Given the description of an element on the screen output the (x, y) to click on. 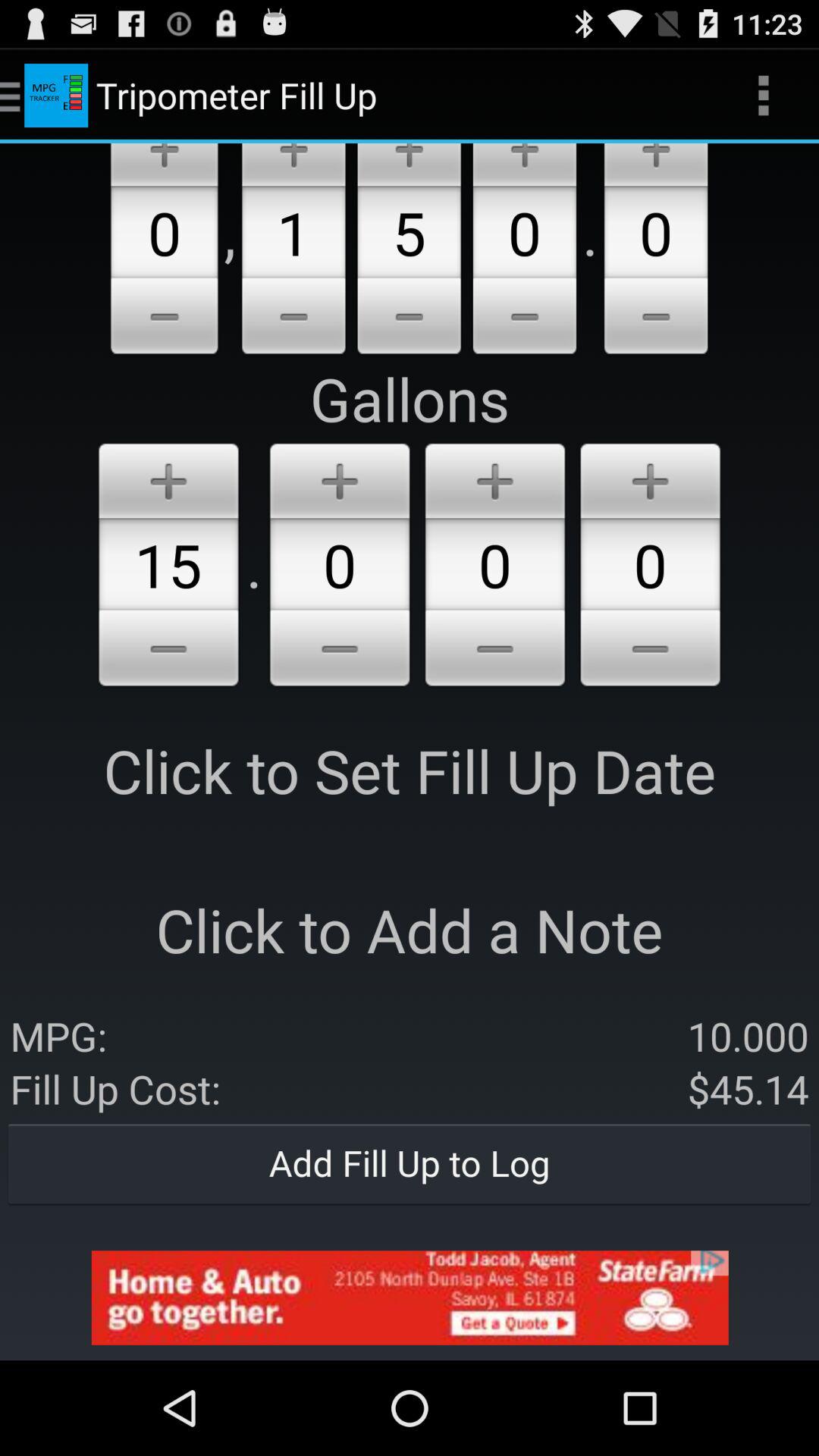
lower the number (168, 651)
